Given the description of an element on the screen output the (x, y) to click on. 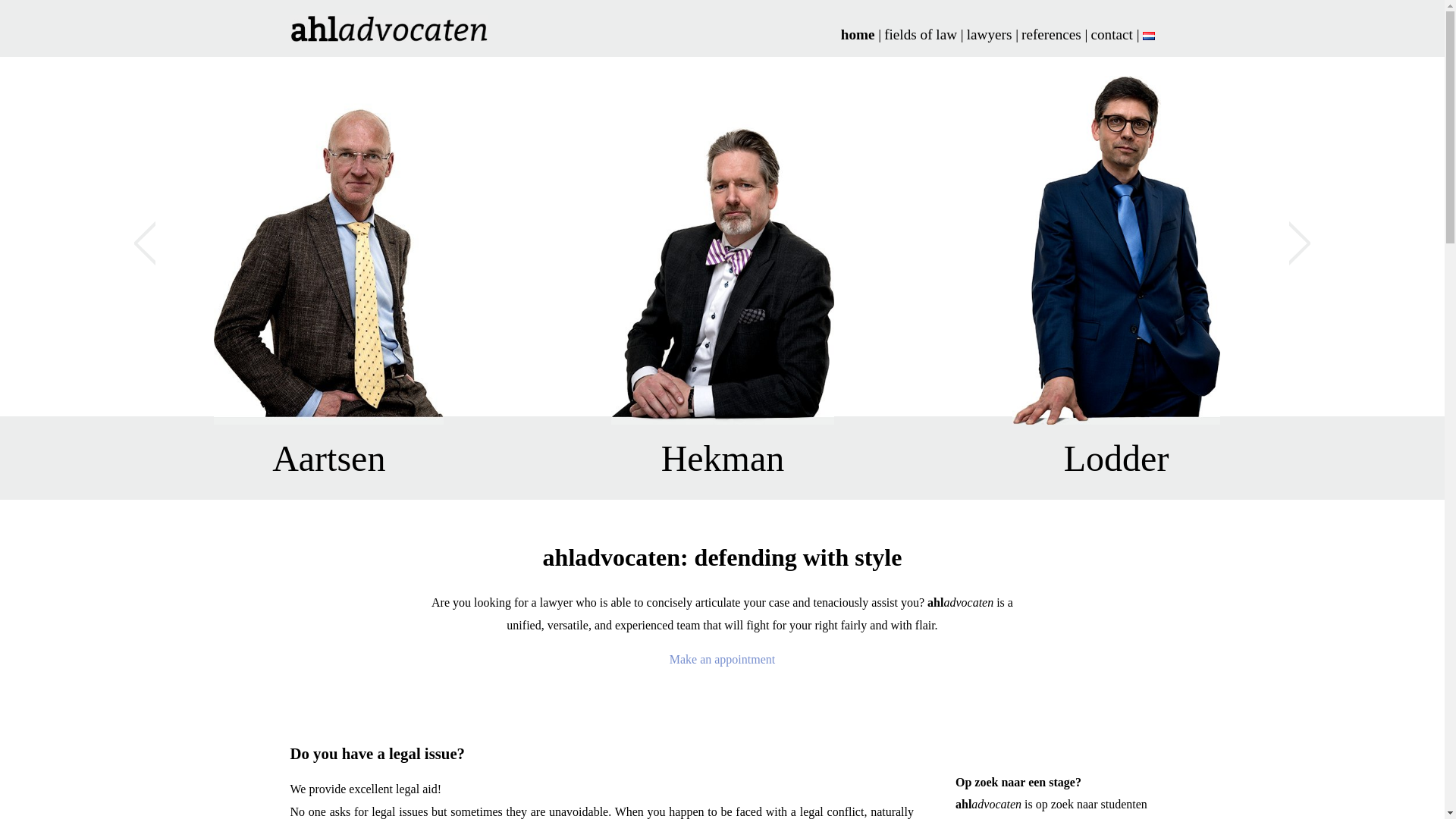
fields of law (919, 34)
lawyers (988, 34)
contact (1111, 34)
references (1051, 34)
home (858, 34)
Make an appointment (722, 658)
